Given the description of an element on the screen output the (x, y) to click on. 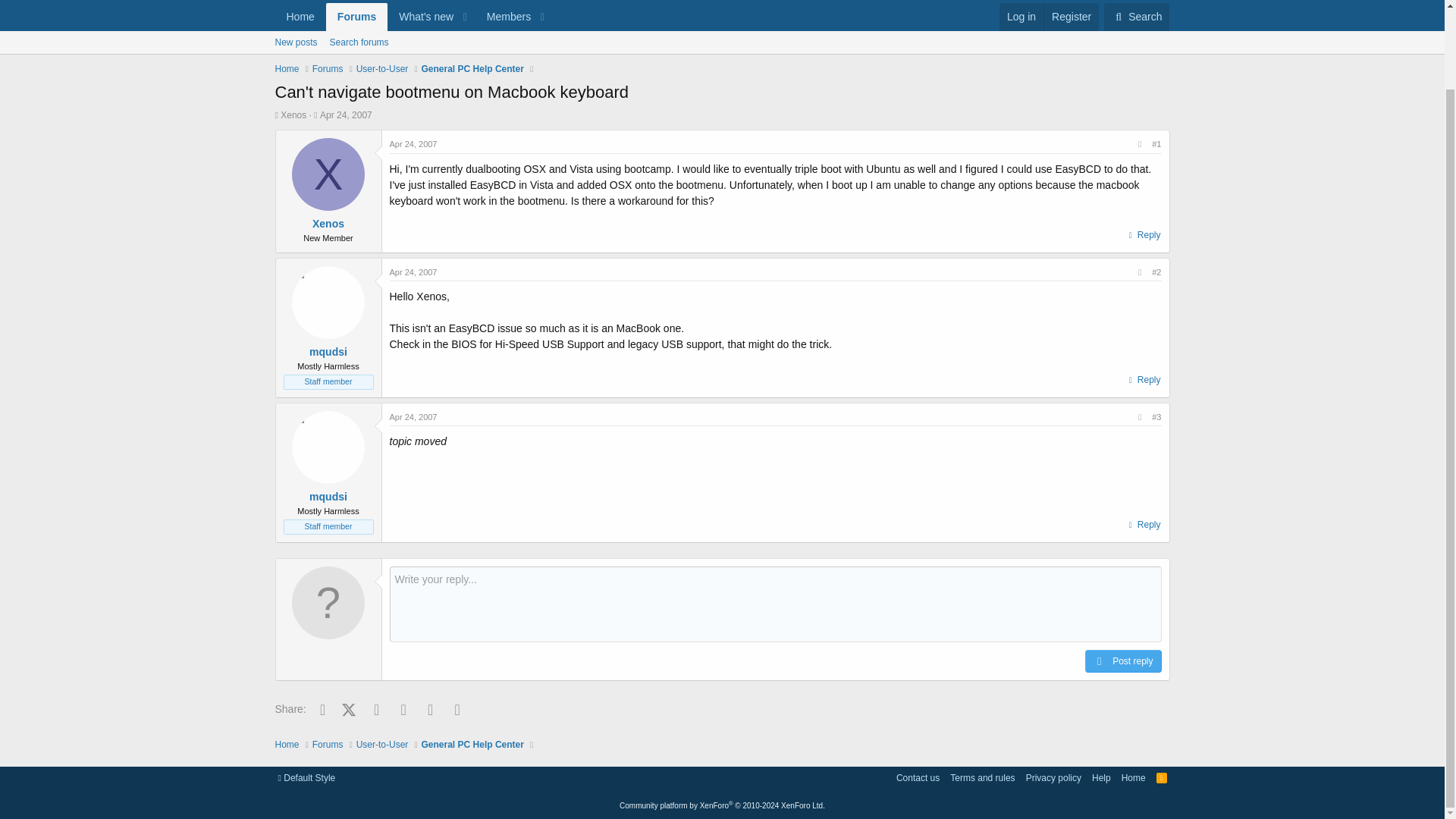
Forums (328, 69)
Log in (1020, 17)
Home (299, 17)
Forums (356, 17)
Reply, quoting this message (1142, 379)
Reply, quoting this message (1142, 524)
New posts (295, 42)
Search (1136, 17)
Register (1071, 17)
